Given the description of an element on the screen output the (x, y) to click on. 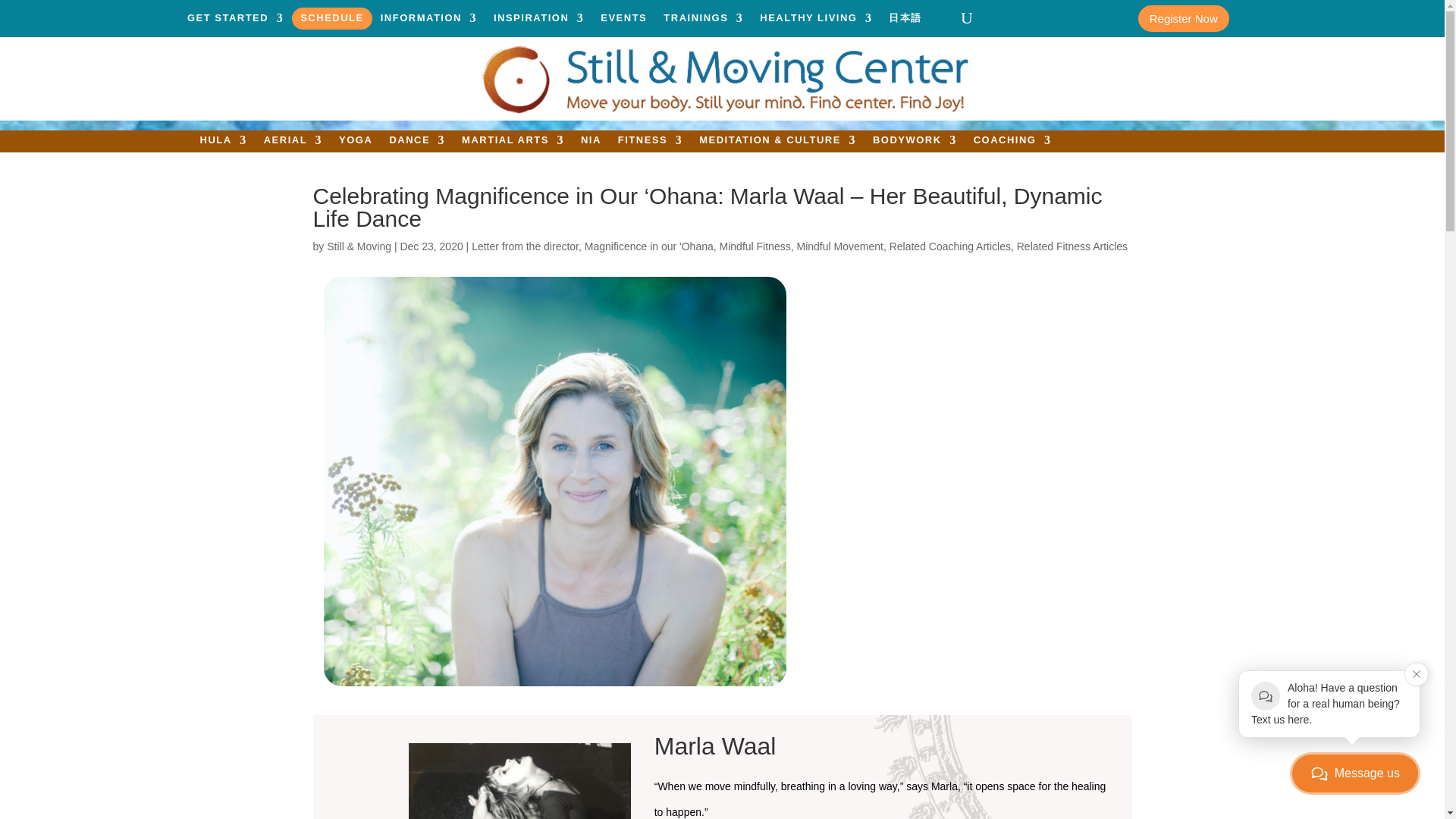
TRAININGS (702, 21)
SCHEDULE (331, 21)
HEALTHY LIVING (816, 21)
Register Now (1183, 18)
EVENTS (622, 21)
INFORMATION (428, 21)
INSPIRATION (538, 21)
GET STARTED (235, 21)
marla 2 (518, 780)
